Given the description of an element on the screen output the (x, y) to click on. 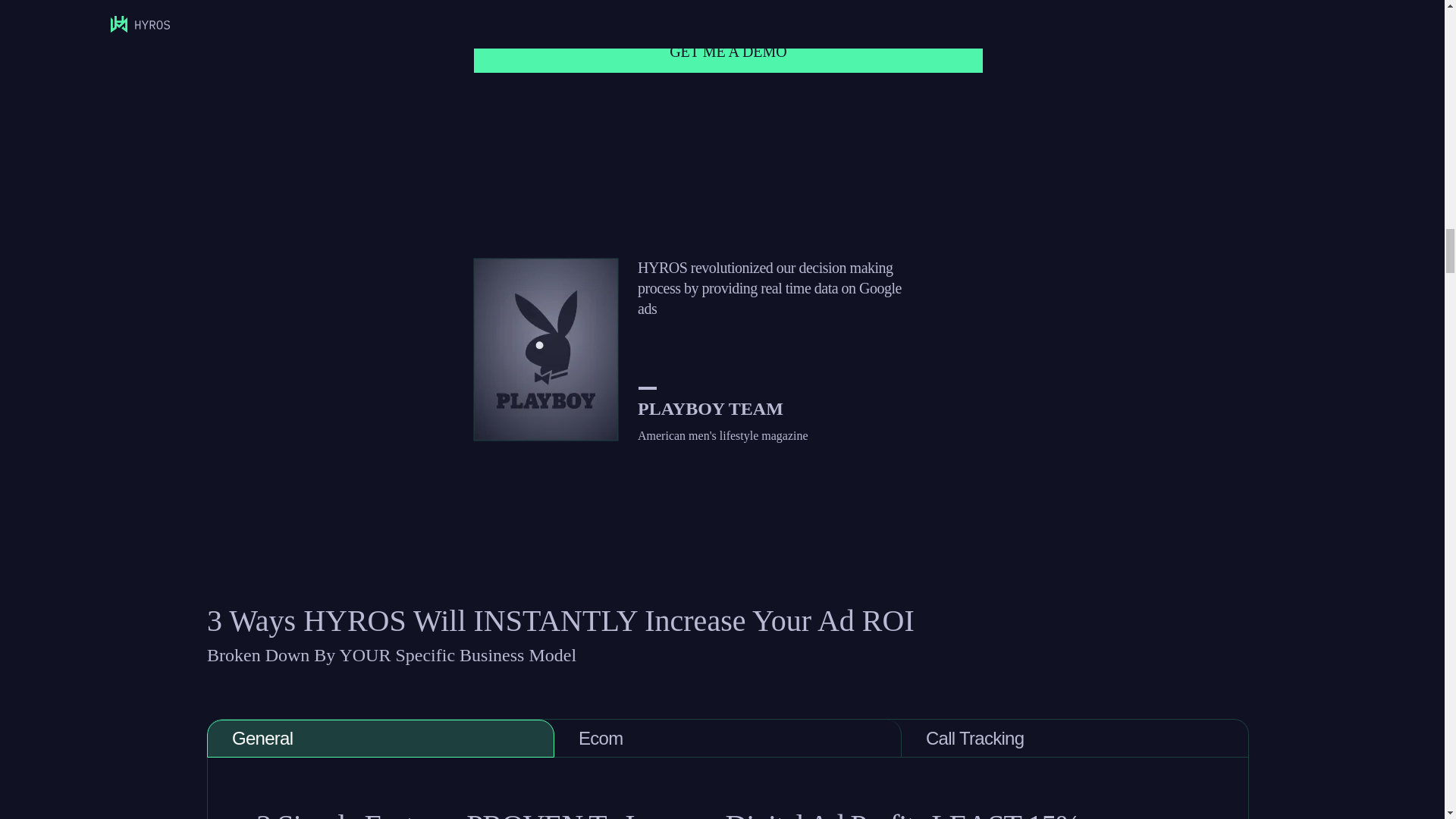
Ecom (727, 738)
GET ME A DEMO (729, 51)
General (380, 738)
Call Tracking (1075, 738)
